Given the description of an element on the screen output the (x, y) to click on. 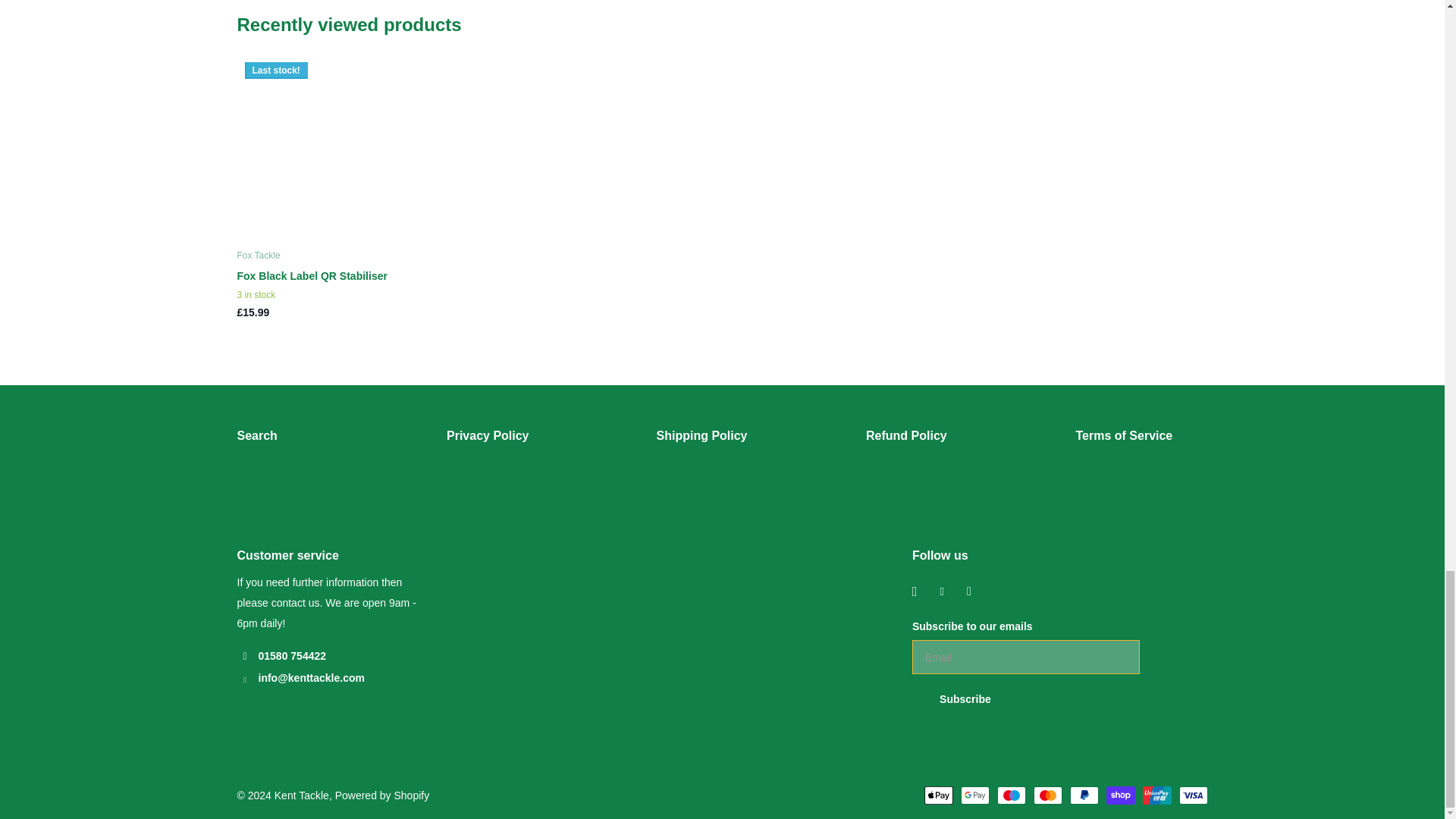
Visa (1192, 795)
PayPal (1082, 795)
Union Pay (1155, 795)
Mastercard (1046, 795)
Shop Pay (1119, 795)
Maestro (1010, 795)
Apple Pay (937, 795)
Google Pay (973, 795)
